Given the description of an element on the screen output the (x, y) to click on. 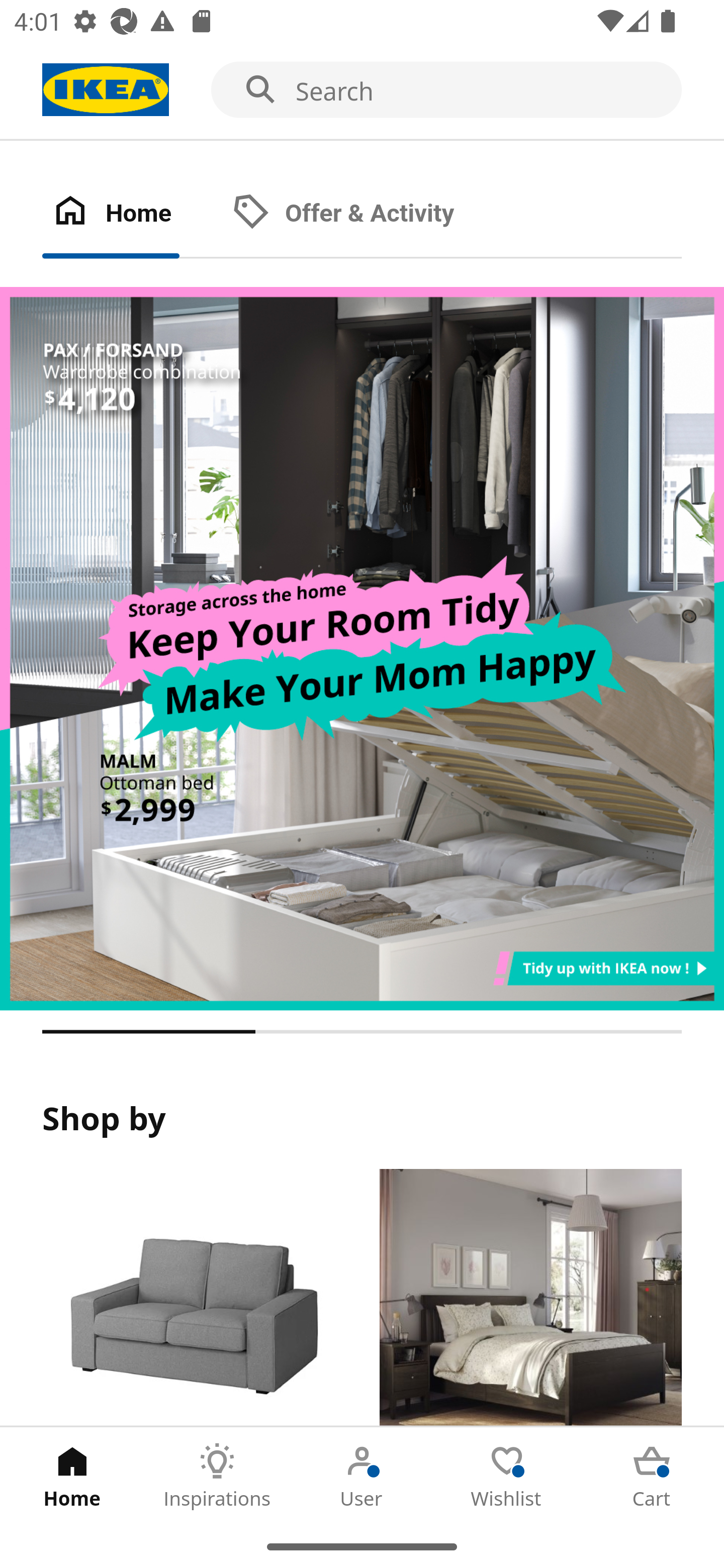
Search (361, 90)
Home
Tab 1 of 2 (131, 213)
Offer & Activity
Tab 2 of 2 (363, 213)
Products (192, 1297)
Rooms (530, 1297)
Home
Tab 1 of 5 (72, 1476)
Inspirations
Tab 2 of 5 (216, 1476)
User
Tab 3 of 5 (361, 1476)
Wishlist
Tab 4 of 5 (506, 1476)
Cart
Tab 5 of 5 (651, 1476)
